Given the description of an element on the screen output the (x, y) to click on. 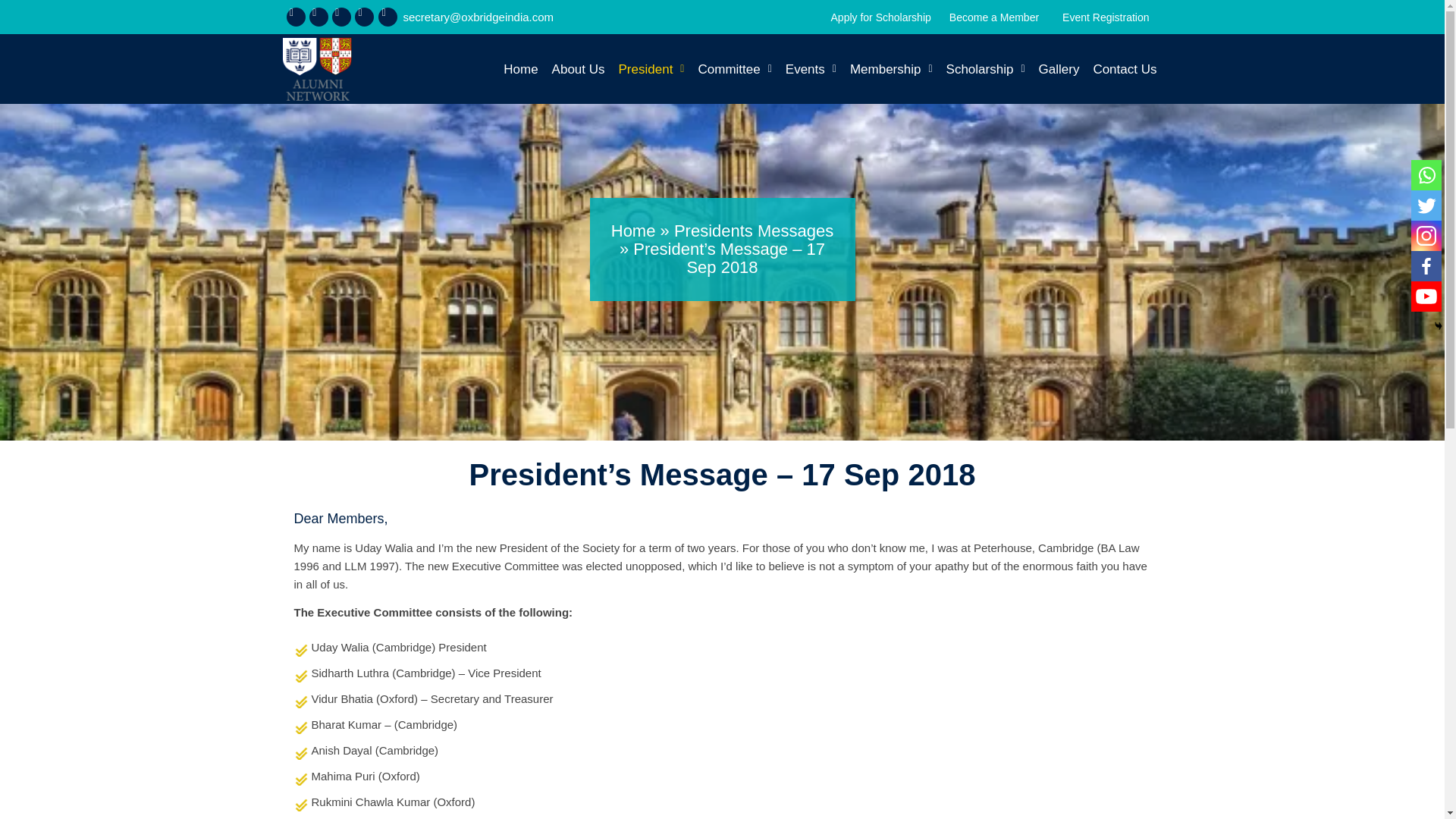
Event Registration (1104, 16)
Events (810, 69)
About Us (578, 69)
Youtube (1425, 296)
Home (520, 69)
Twitter (1425, 205)
Facebook (1425, 265)
Membership (891, 69)
Become a Member (994, 16)
Committee (734, 69)
Apply for Scholarship (881, 16)
Whatsapp (1425, 174)
President (651, 69)
Instagram (1425, 235)
